Given the description of an element on the screen output the (x, y) to click on. 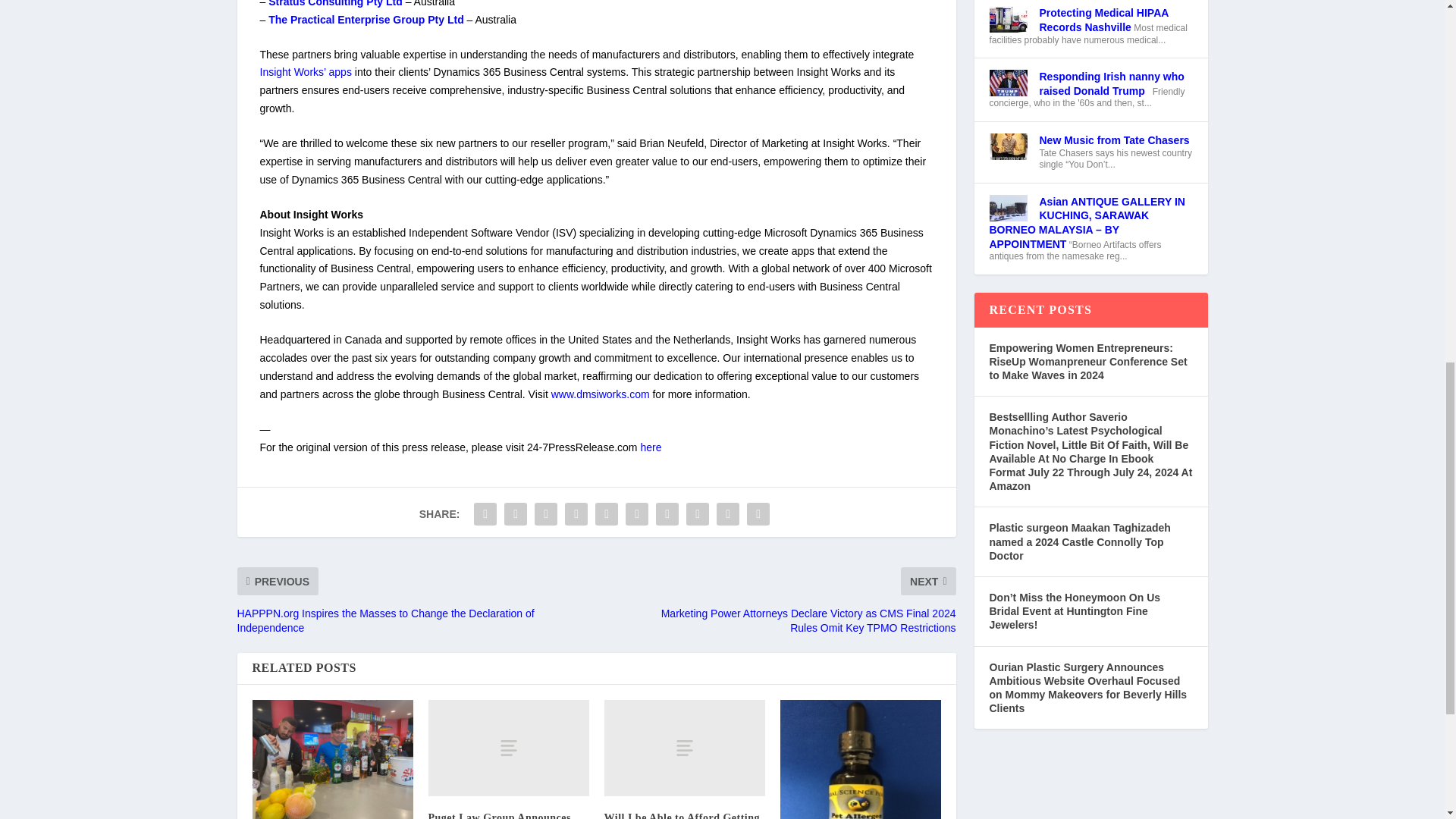
Puget Law Group Announces 2024 Scholarship (508, 748)
Make Your Pet a Hypoallergenic Pet (859, 759)
Will I be Able to Afford Getting Divorced? (684, 748)
The Practical Enterprise Group Pty Ltd (365, 19)
Stratus Consulting Pty Ltd (335, 3)
here (650, 447)
www.dmsiworks.com (600, 394)
